Given the description of an element on the screen output the (x, y) to click on. 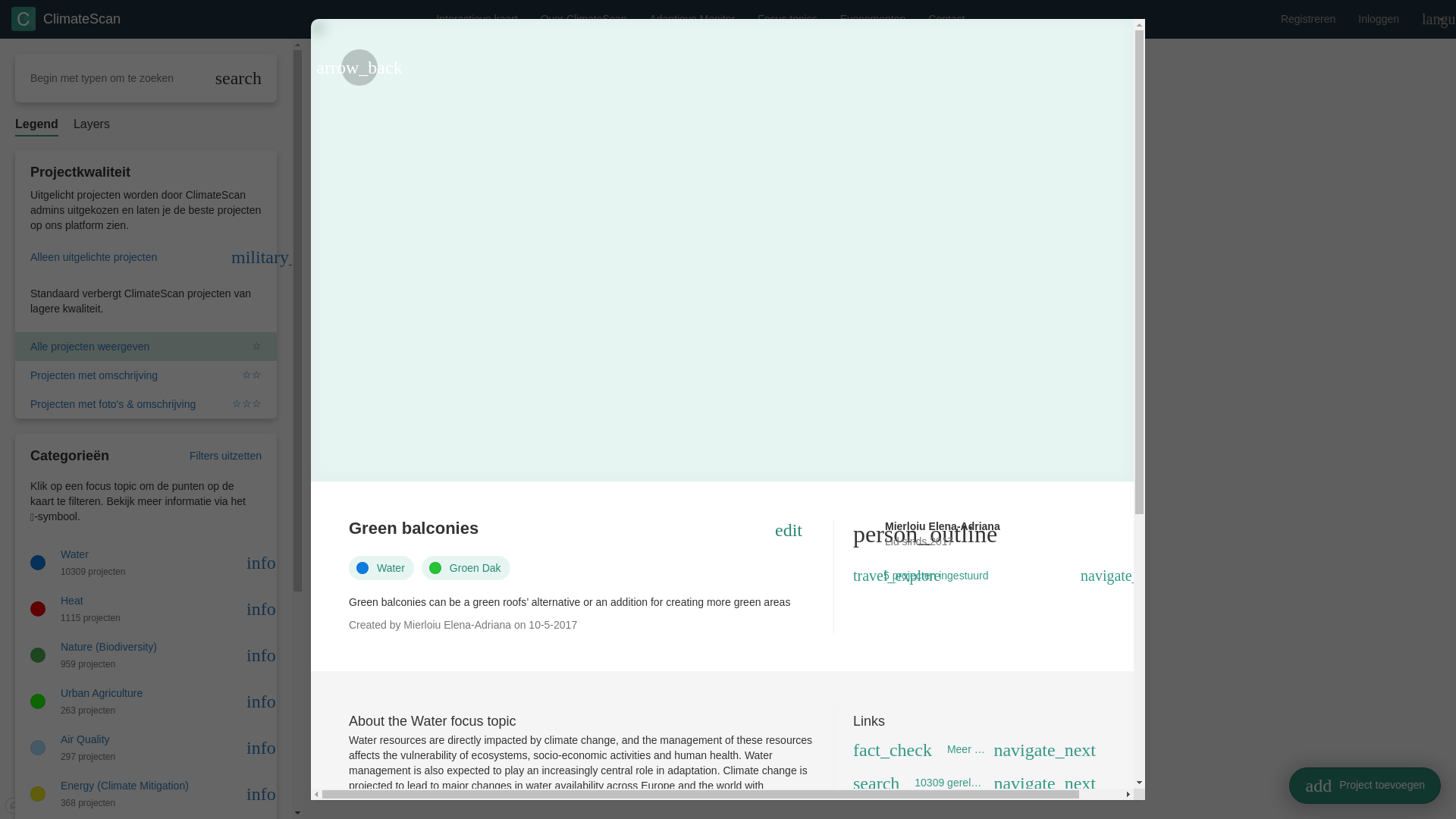
Registreren (1307, 18)
Contact (946, 18)
ClimateScan (66, 18)
Over ClimateScan (584, 18)
Evenementen (872, 18)
language (1433, 18)
Adaptieve Monitor (691, 18)
Focus topics (786, 18)
Interactieve kaart (476, 18)
Inloggen (1378, 18)
